Given the description of an element on the screen output the (x, y) to click on. 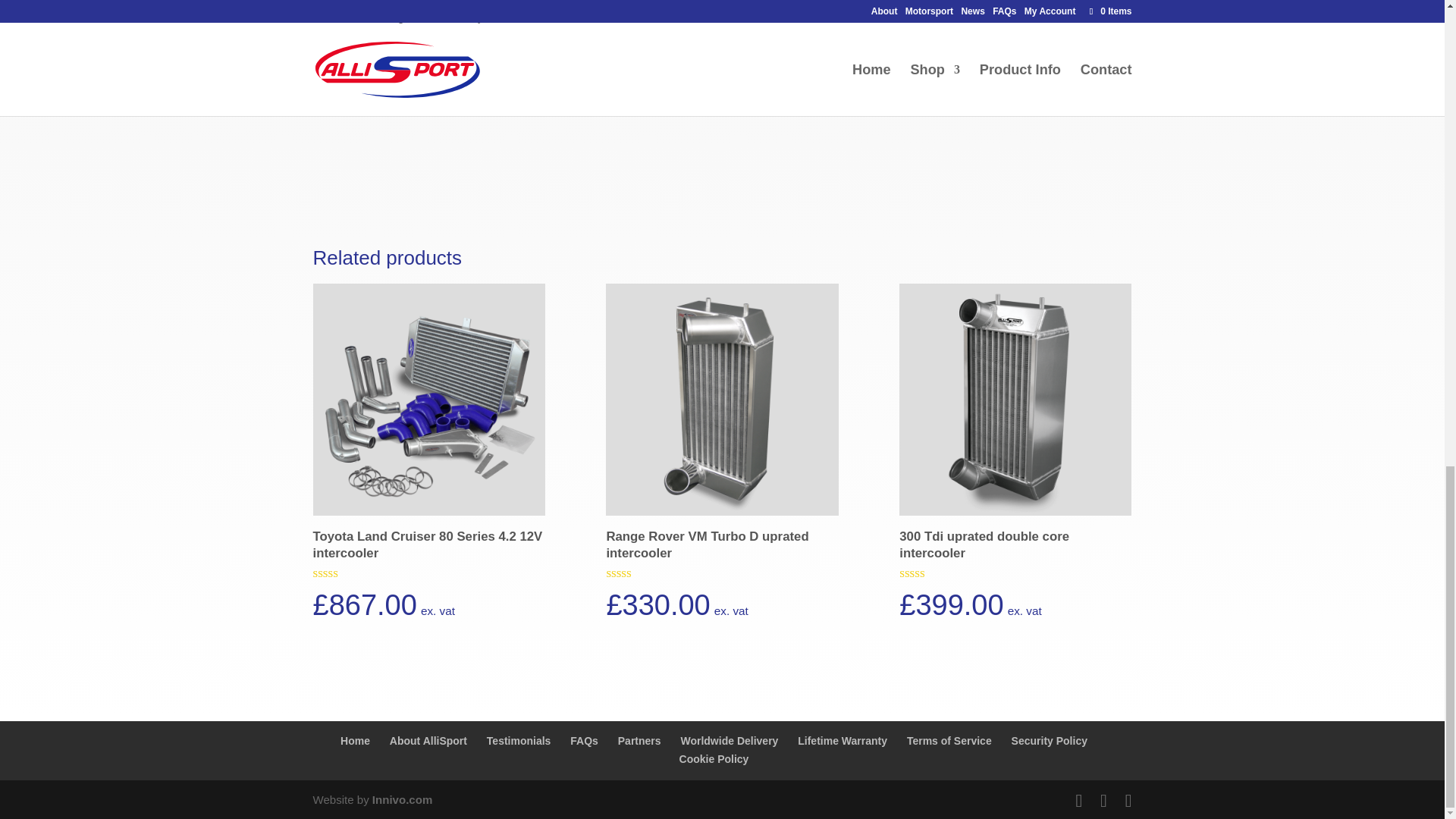
Innivo (402, 799)
